Given the description of an element on the screen output the (x, y) to click on. 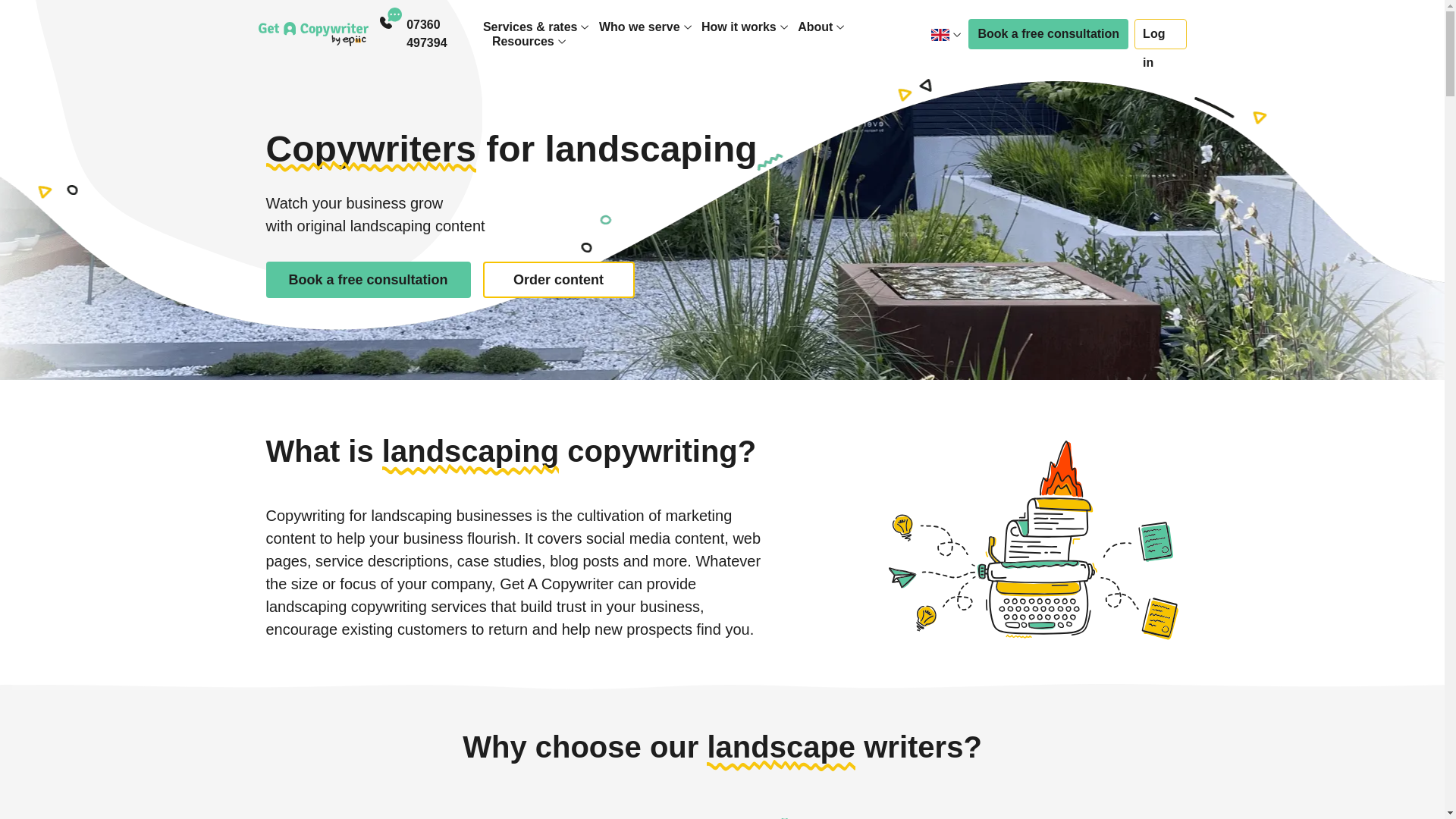
How it works (738, 26)
07360 497394 (444, 33)
Get a copywriter (312, 33)
About (814, 26)
Resources (523, 41)
phone number (444, 33)
Who we serve (638, 26)
